Given the description of an element on the screen output the (x, y) to click on. 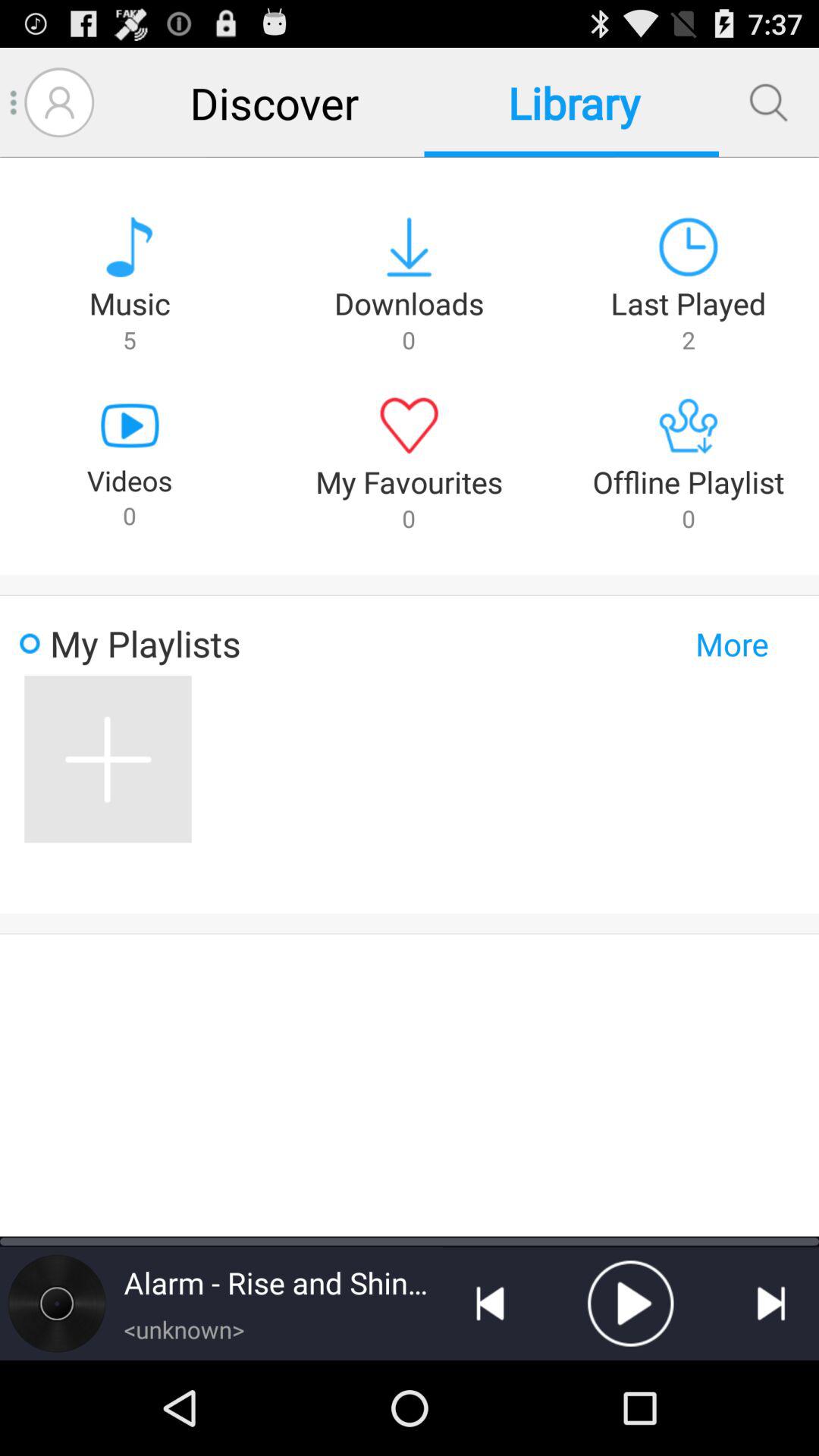
go to album (56, 1303)
